Given the description of an element on the screen output the (x, y) to click on. 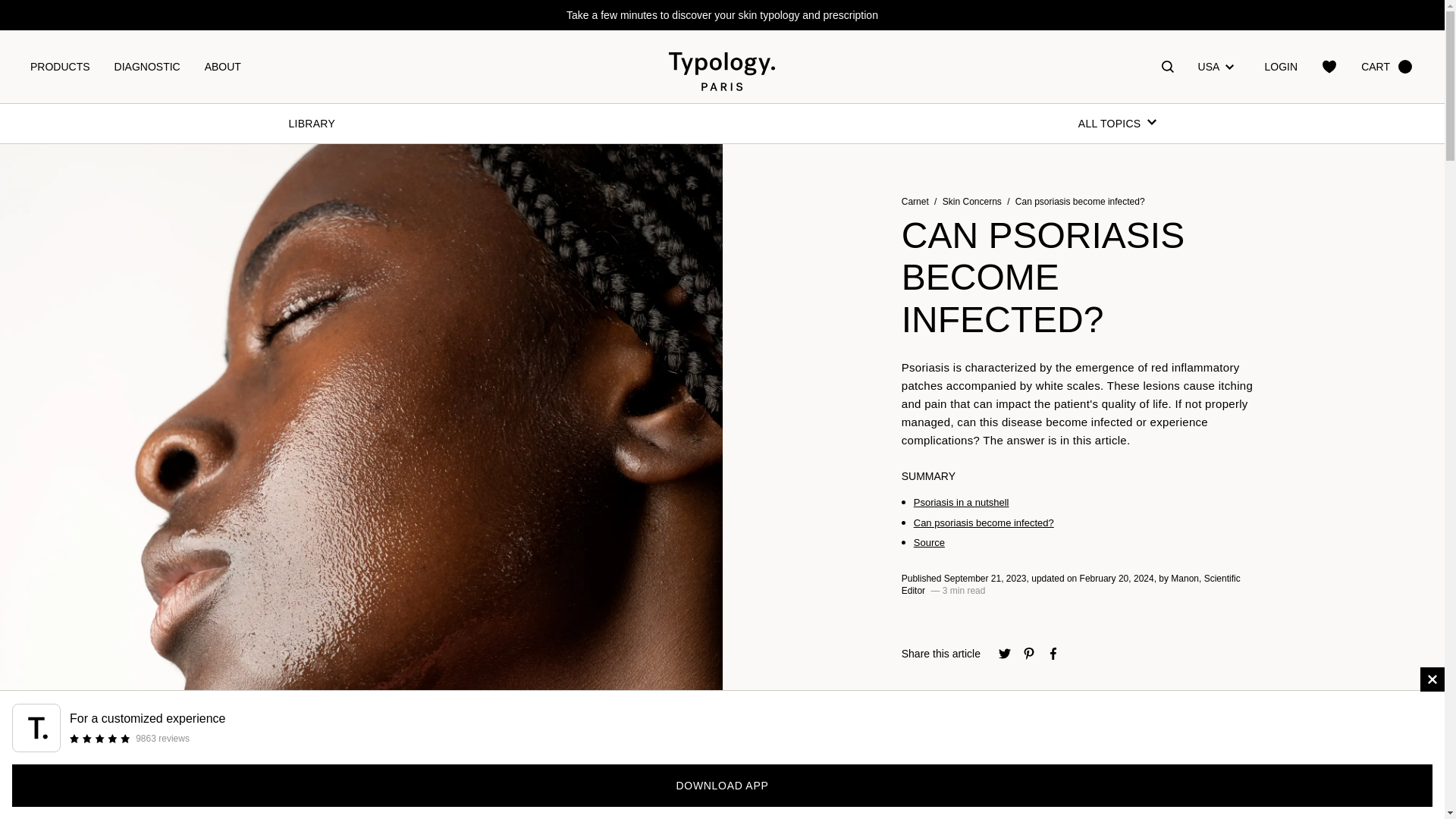
PRODUCTS (59, 66)
